Given the description of an element on the screen output the (x, y) to click on. 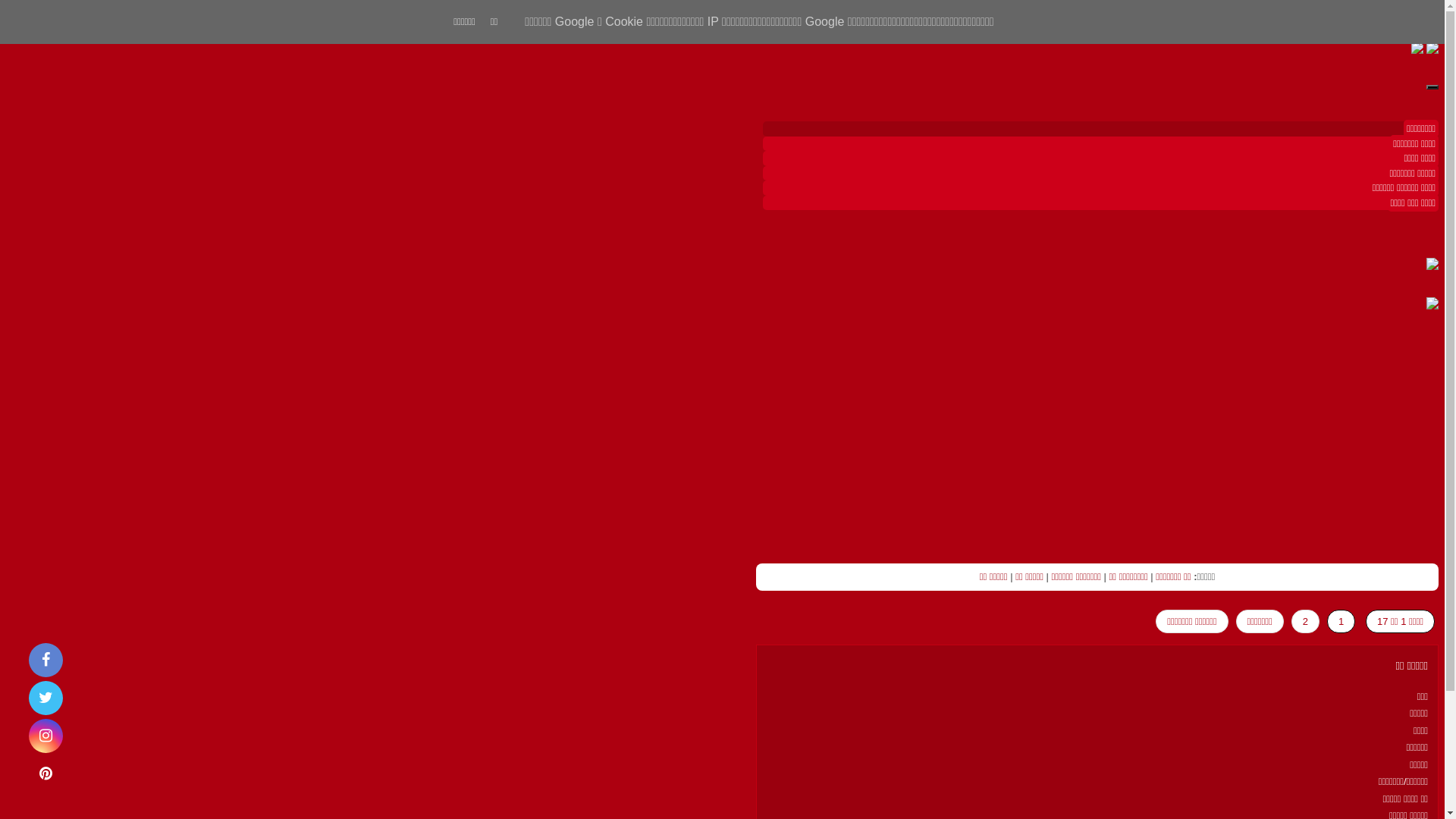
2 Element type: text (1305, 621)
Toggle navigation Element type: text (1432, 86)
Advertisement Element type: hover (1097, 438)
